Given the description of an element on the screen output the (x, y) to click on. 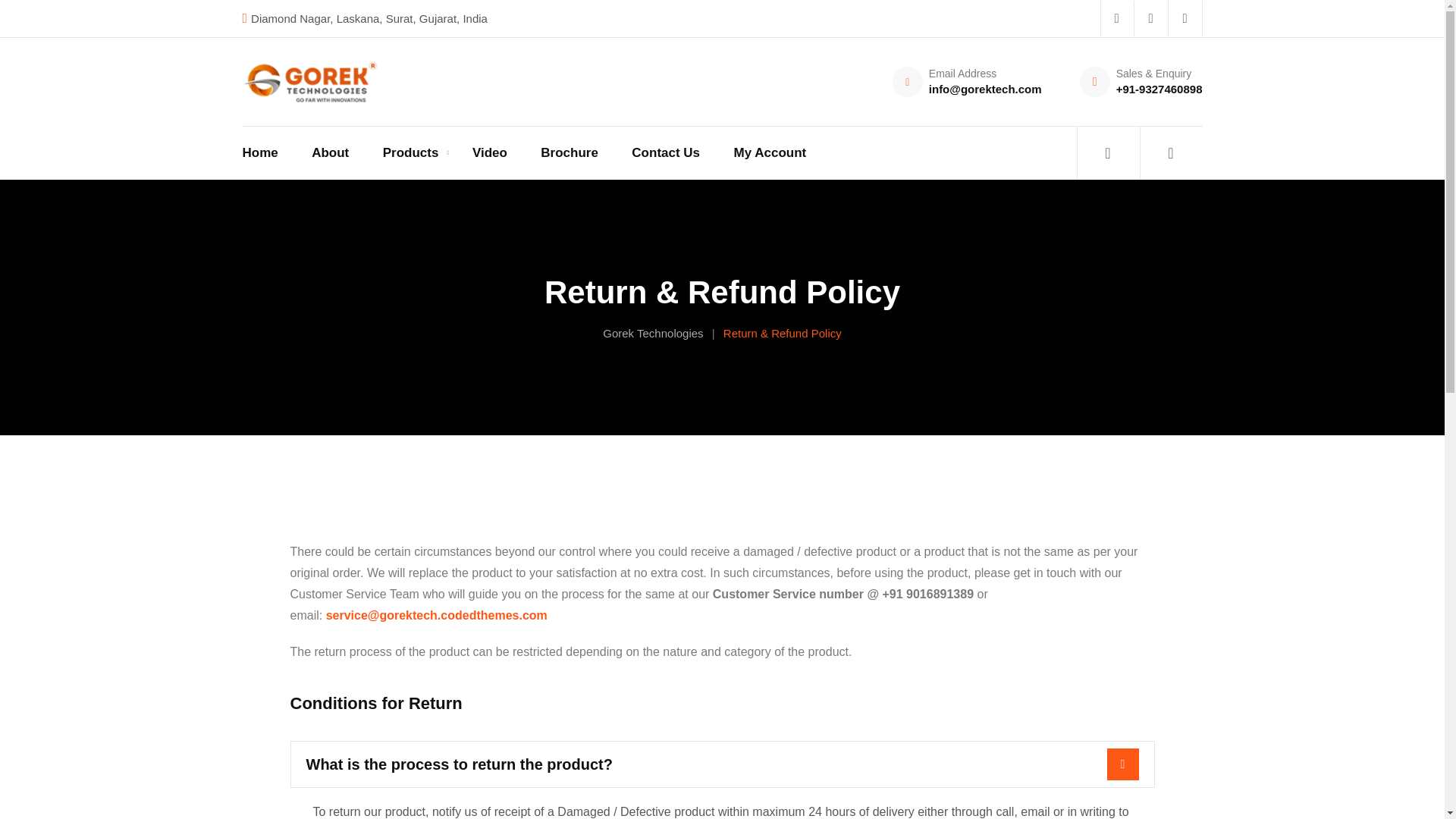
Brochure (569, 152)
View your shopping cart (1170, 152)
Search (1108, 152)
Go to Gorek Technologies. (652, 332)
My Account (769, 152)
Contact Us (665, 152)
Products (410, 152)
